Given the description of an element on the screen output the (x, y) to click on. 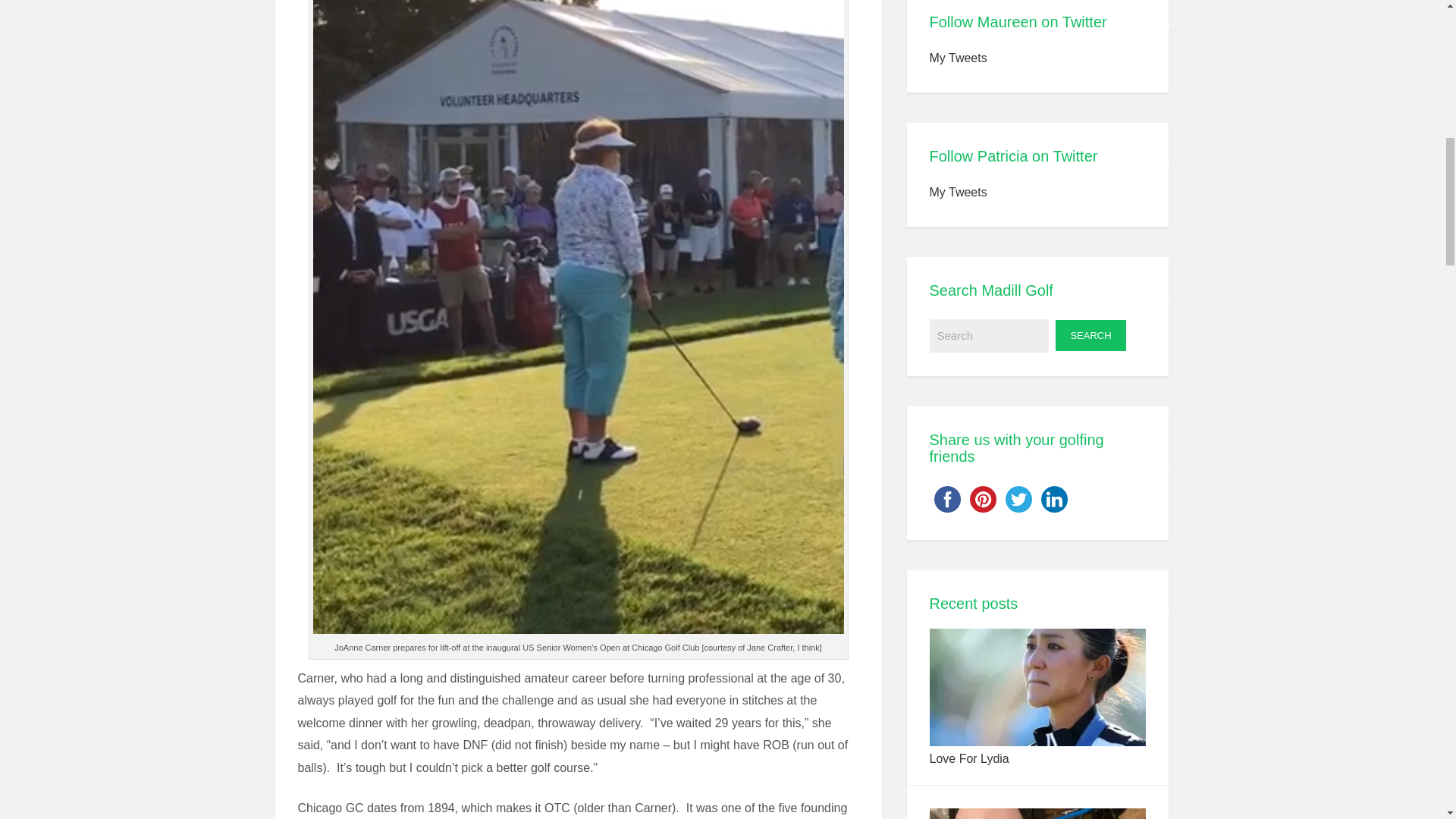
pinterest (981, 498)
facebook (947, 498)
twitter (1018, 498)
Search (1090, 335)
Search (989, 335)
